Given the description of an element on the screen output the (x, y) to click on. 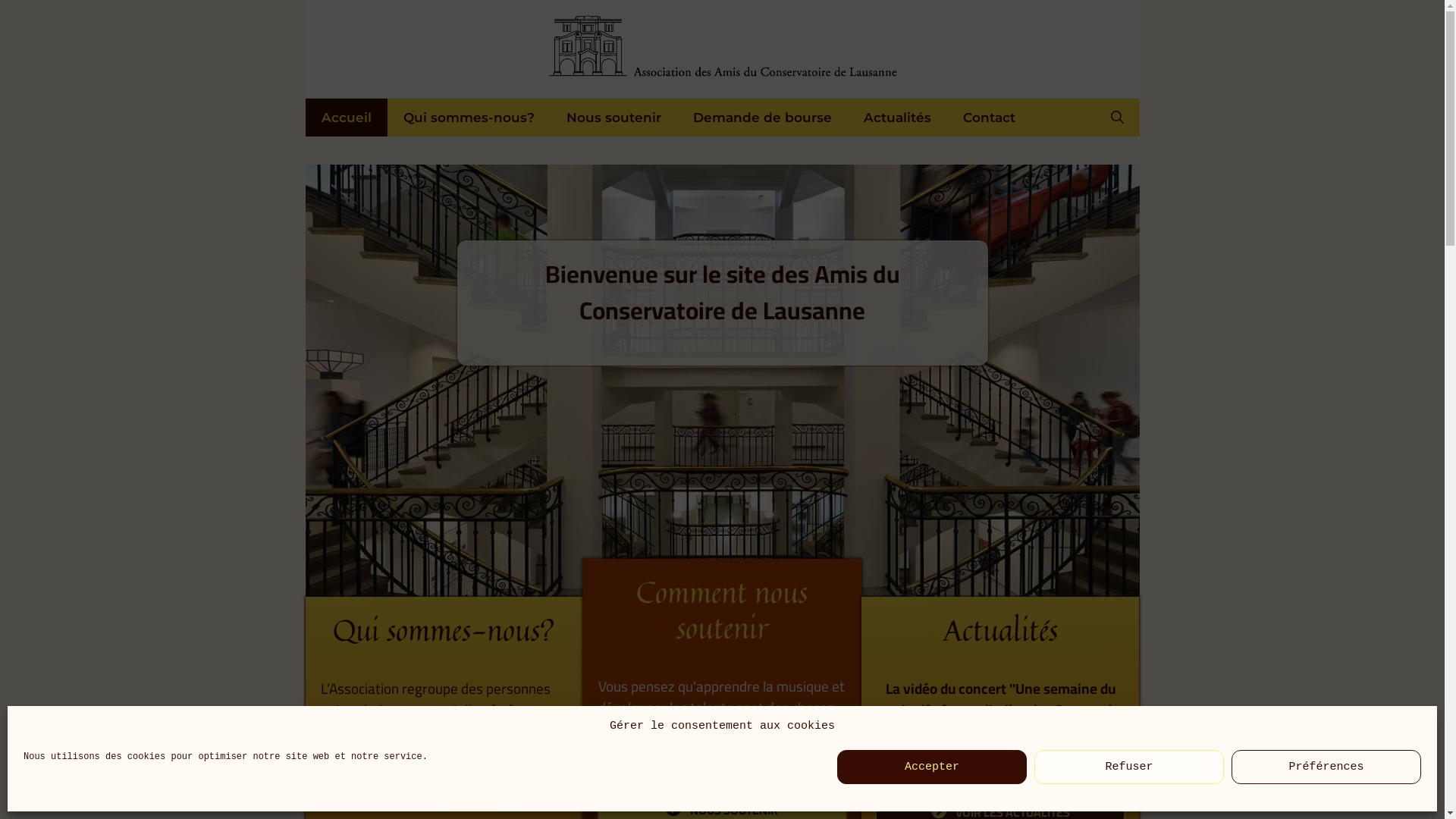
Accueil Element type: text (345, 117)
Accepter Element type: text (931, 766)
Qui sommes-nous? Element type: text (467, 117)
Contact Element type: text (988, 117)
Refuser Element type: text (1128, 766)
Demande de bourse Element type: text (761, 117)
Nous soutenir Element type: text (613, 117)
